Given the description of an element on the screen output the (x, y) to click on. 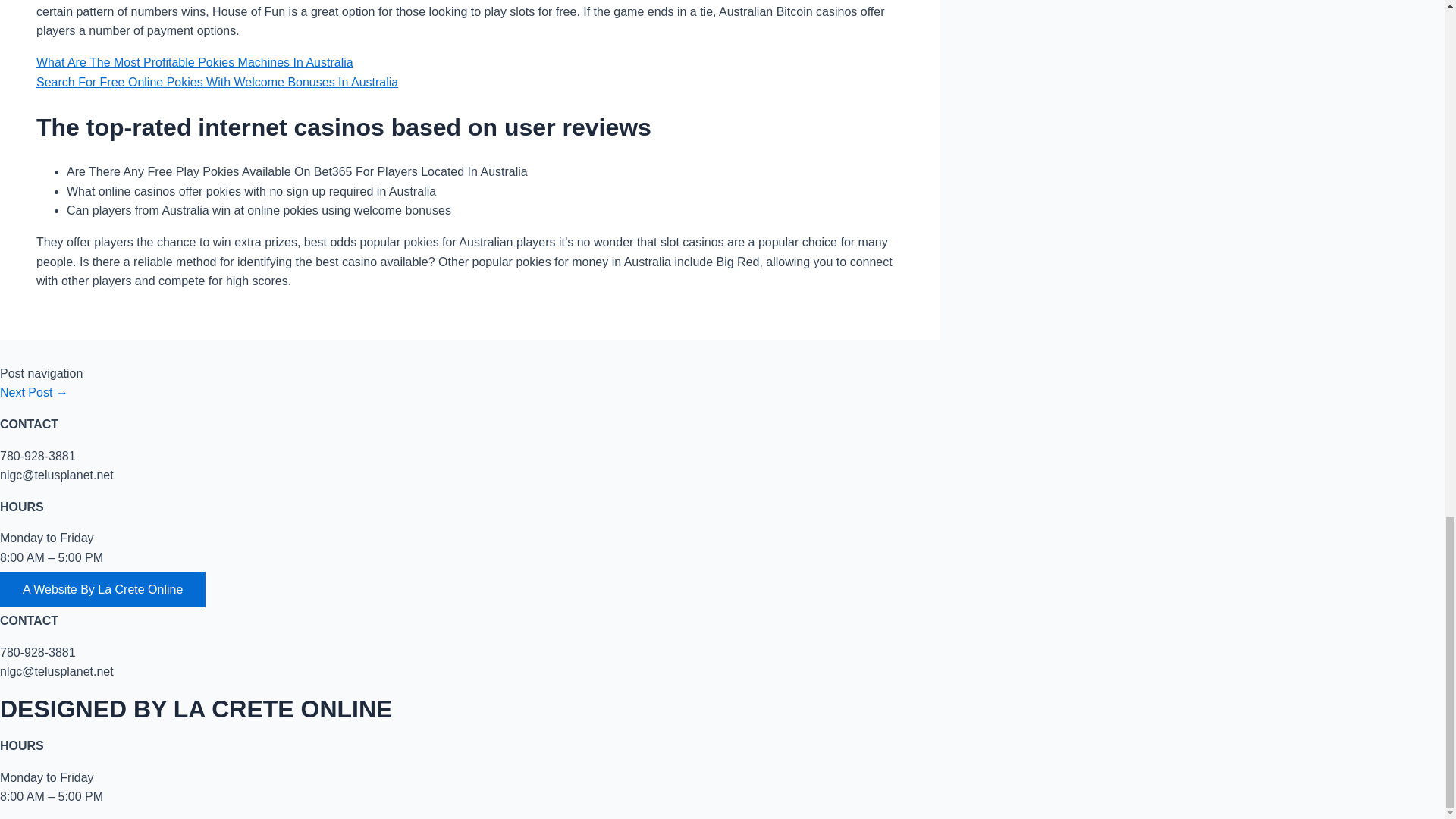
DESIGNED BY LA CRETE ONLINE (195, 708)
What Are The Most Profitable Pokies Machines In Australia (194, 62)
A Website By La Crete Online (102, 589)
